Given the description of an element on the screen output the (x, y) to click on. 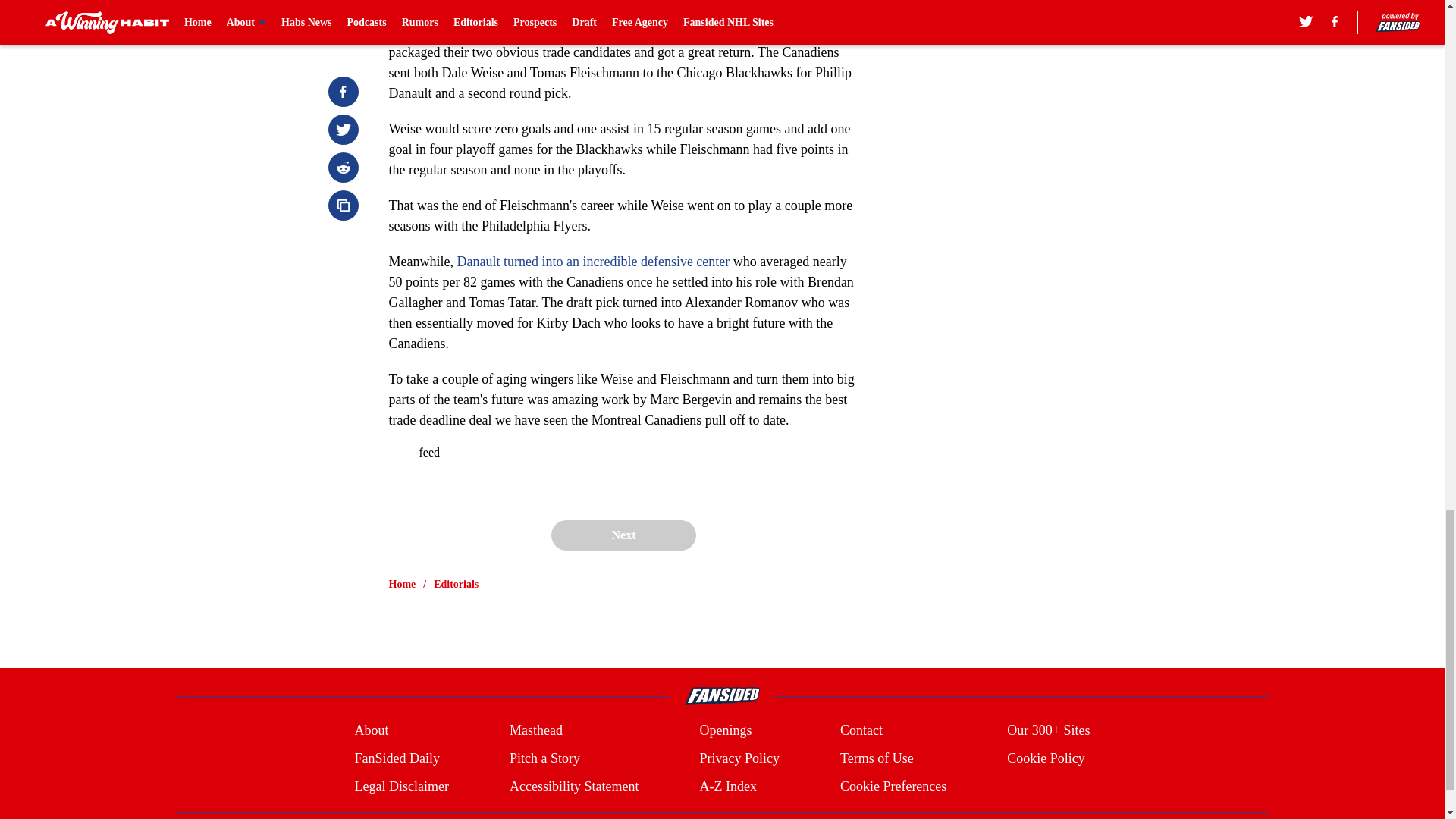
Masthead (535, 730)
Openings (724, 730)
Home (401, 584)
Cookie Policy (1045, 758)
About (370, 730)
Pitch a Story (544, 758)
Next (622, 535)
Contact (861, 730)
Editorials (456, 584)
Privacy Policy (738, 758)
FanSided Daily (396, 758)
Terms of Use (877, 758)
Danault turned into an incredible defensive center (593, 261)
